Given the description of an element on the screen output the (x, y) to click on. 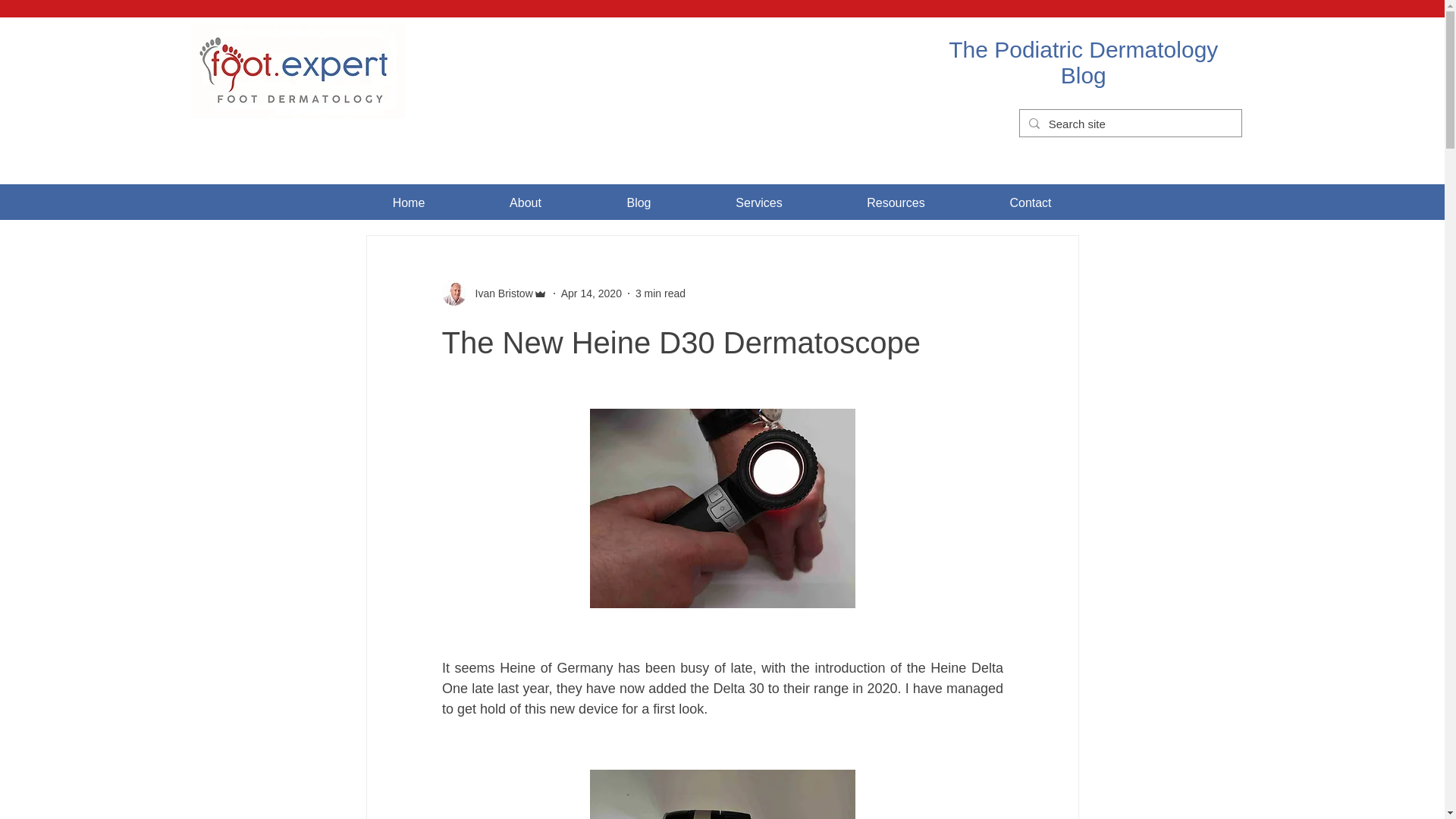
Ivan Bristow (498, 293)
3 min read (659, 292)
Blog (638, 202)
About (526, 202)
Apr 14, 2020 (590, 292)
Home (407, 202)
